Given the description of an element on the screen output the (x, y) to click on. 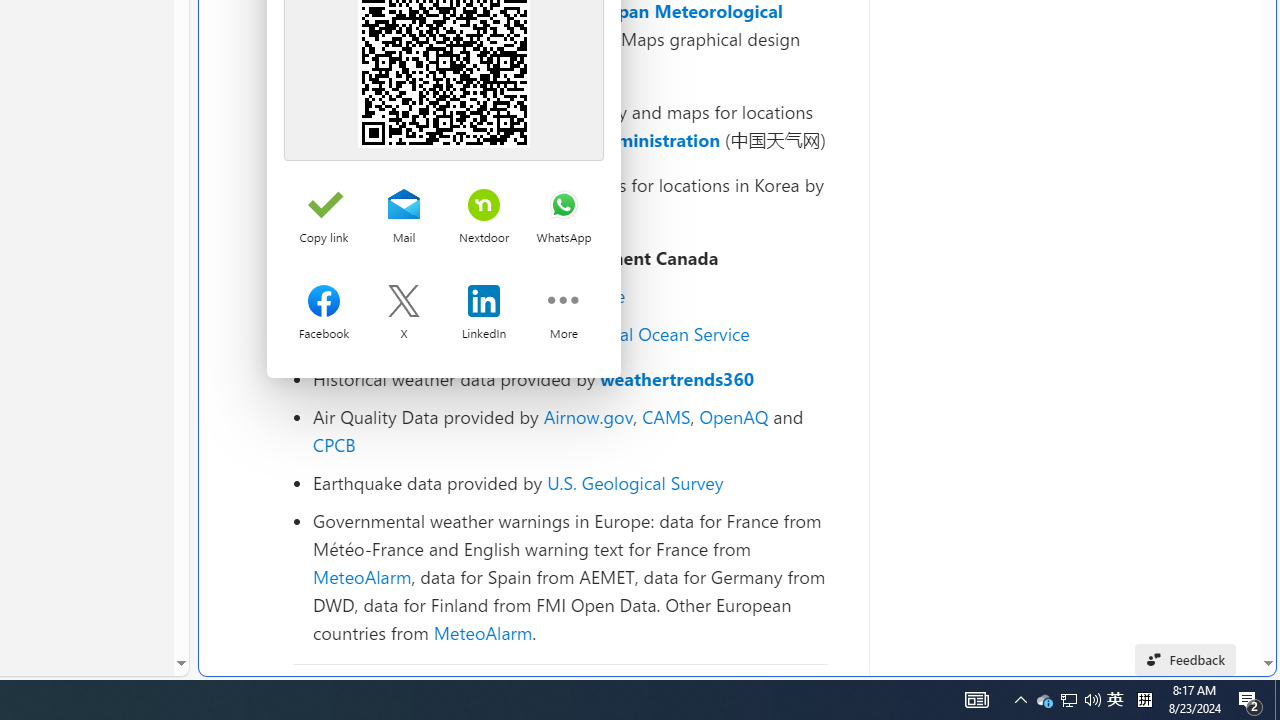
OpenAQ (733, 416)
Share on Nextdoor (484, 206)
Share on X (403, 303)
weathertrends360 (677, 378)
Canadian radar map data by Environment Canada (570, 258)
MeteoAlarm (482, 632)
Airnow.gov (587, 416)
Earthquake data provided by U.S. Geological Survey (570, 482)
Nowcast.de (578, 295)
